Given the description of an element on the screen output the (x, y) to click on. 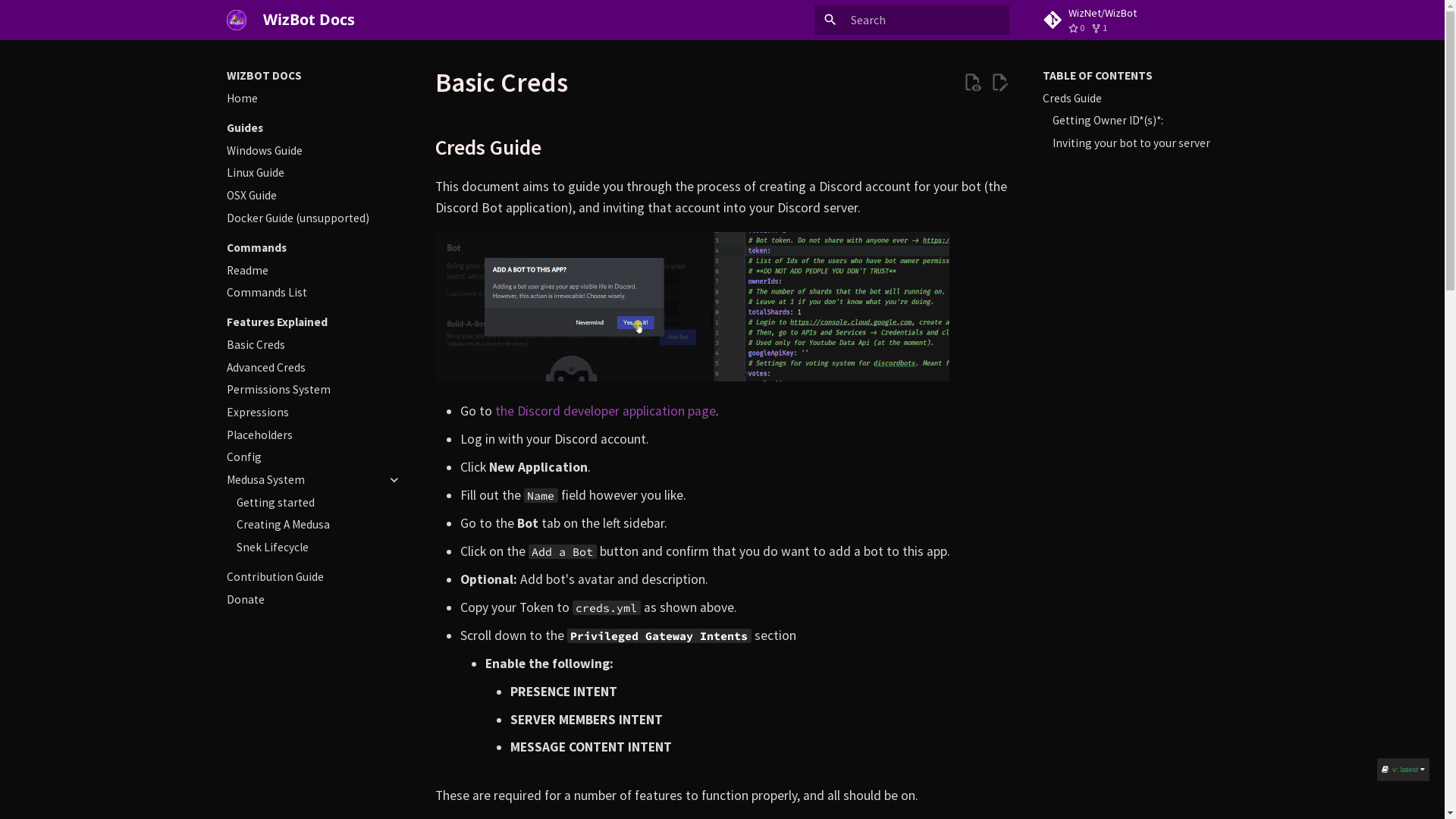
Inviting your bot to your server Element type: text (1134, 142)
Basic Creds Element type: text (313, 344)
Getting started Element type: text (318, 502)
Placeholders Element type: text (313, 434)
Edit this page Element type: hover (999, 82)
Commands List Element type: text (313, 292)
Readme Element type: text (313, 270)
Creds Guide Element type: text (1129, 98)
Home Element type: text (313, 98)
OSX Guide Element type: text (313, 195)
Getting Owner ID*(s)*: Element type: text (1134, 120)
Permissions System Element type: text (313, 389)
Creating A Medusa Element type: text (318, 524)
Advanced Creds Element type: text (313, 367)
Snek Lifecycle Element type: text (318, 547)
the Discord developer application page Element type: text (605, 410)
Donate Element type: text (313, 599)
Windows Guide Element type: text (313, 150)
Linux Guide Element type: text (313, 172)
Expressions Element type: text (313, 412)
Contribution Guide Element type: text (313, 576)
Config Element type: text (313, 456)
WizNet/WizBot
0
1 Element type: text (1129, 20)
View source of this page Element type: hover (972, 82)
Docker Guide (unsupported) Element type: text (313, 217)
WizBot Docs Element type: hover (236, 19)
